Given the description of an element on the screen output the (x, y) to click on. 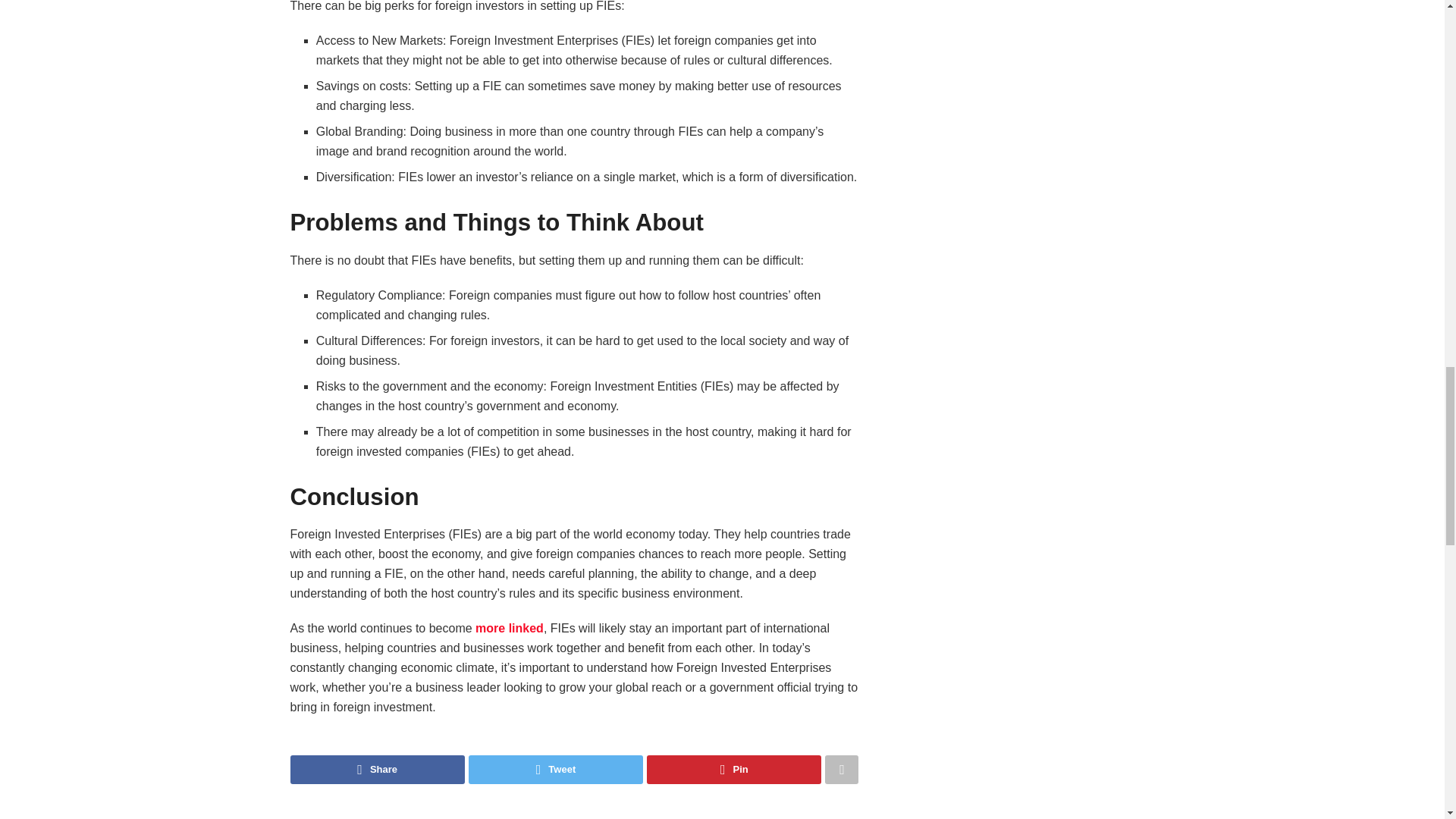
Tweet (555, 769)
more linked (509, 627)
Share (376, 769)
